Given the description of an element on the screen output the (x, y) to click on. 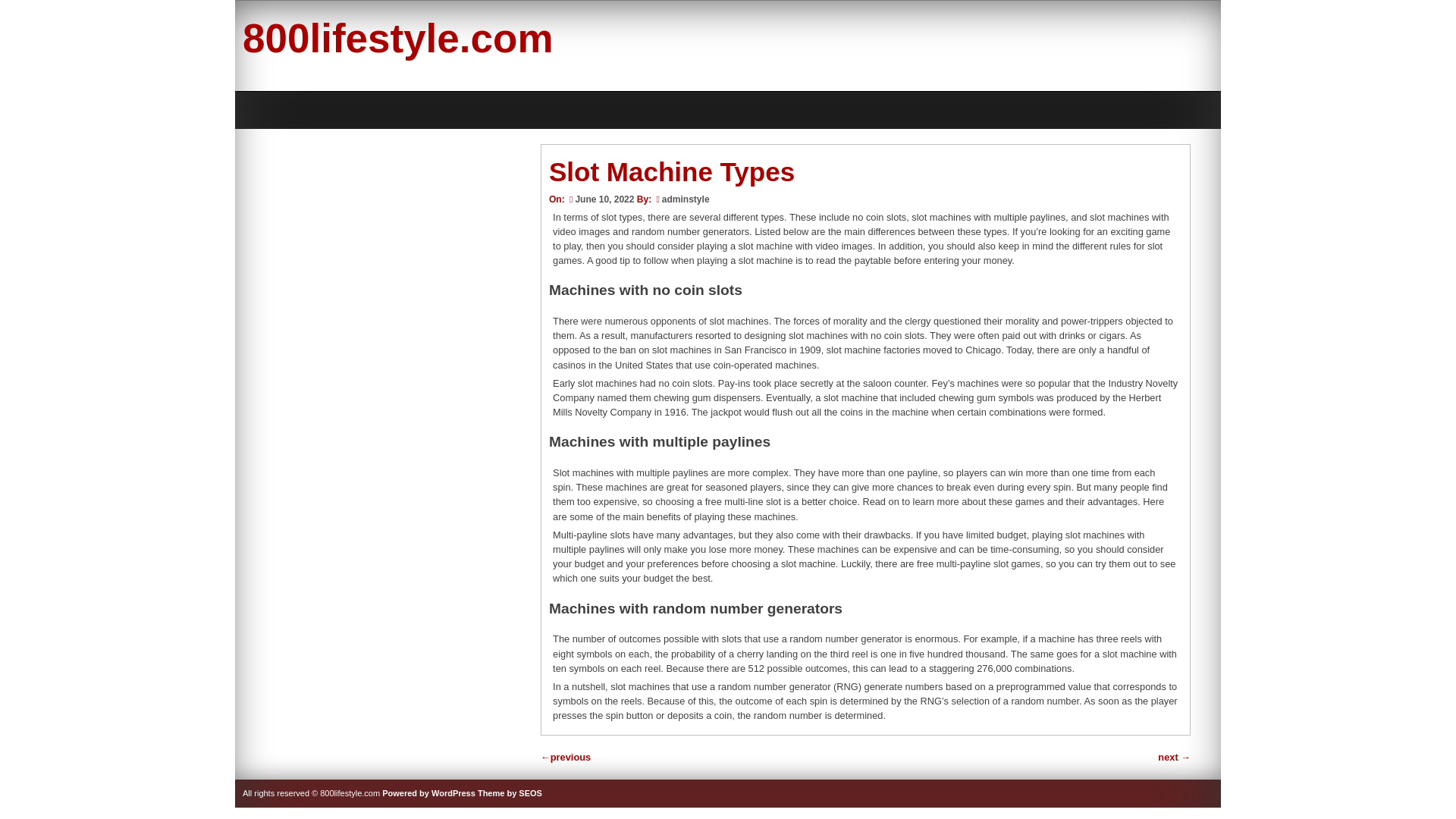
800lifestyle.com (398, 37)
Theme by SEOS (509, 792)
Seos free wordpress themes (509, 792)
adminstyle (686, 199)
Powered by WordPress (428, 792)
June 10, 2022 (600, 199)
